Given the description of an element on the screen output the (x, y) to click on. 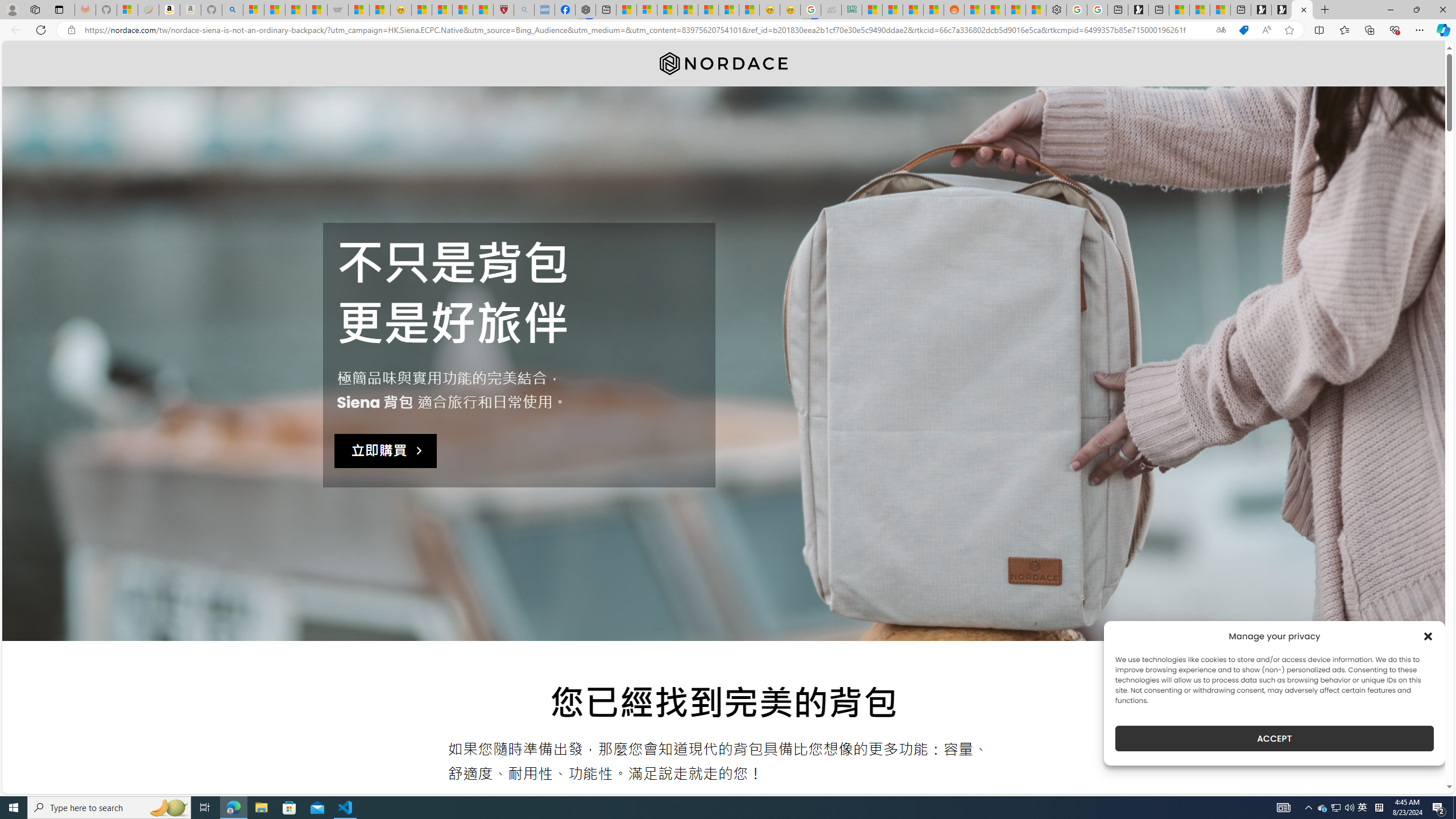
R******* | Trusted Community Engagement and Contributions (974, 9)
Class: cmplz-close (1428, 636)
